Given the description of an element on the screen output the (x, y) to click on. 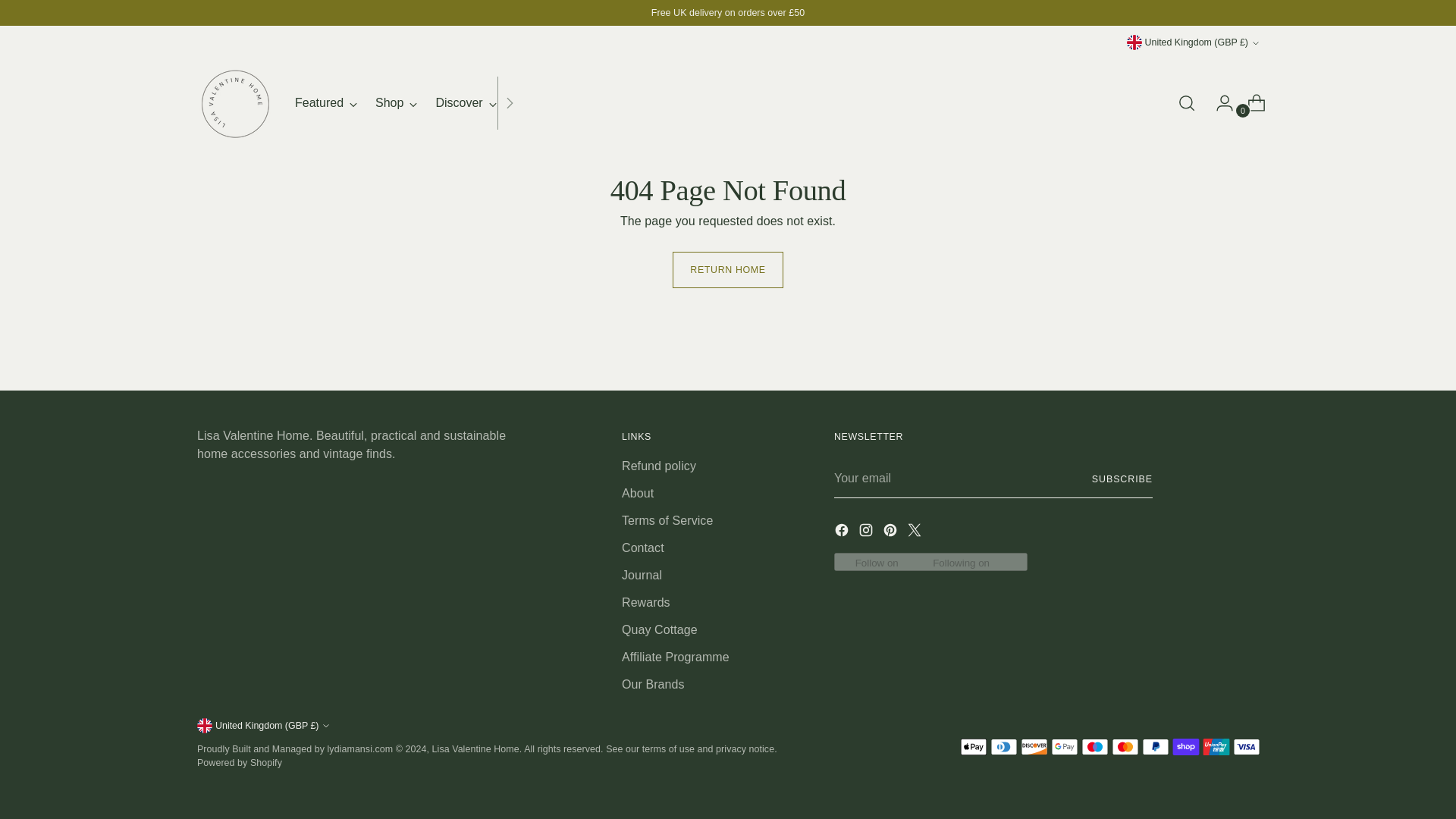
Lisa Valentine Home on Facebook (842, 532)
Shop (395, 102)
Featured (407, 102)
Lisa Valentine Home on Pinterest (325, 102)
